Given the description of an element on the screen output the (x, y) to click on. 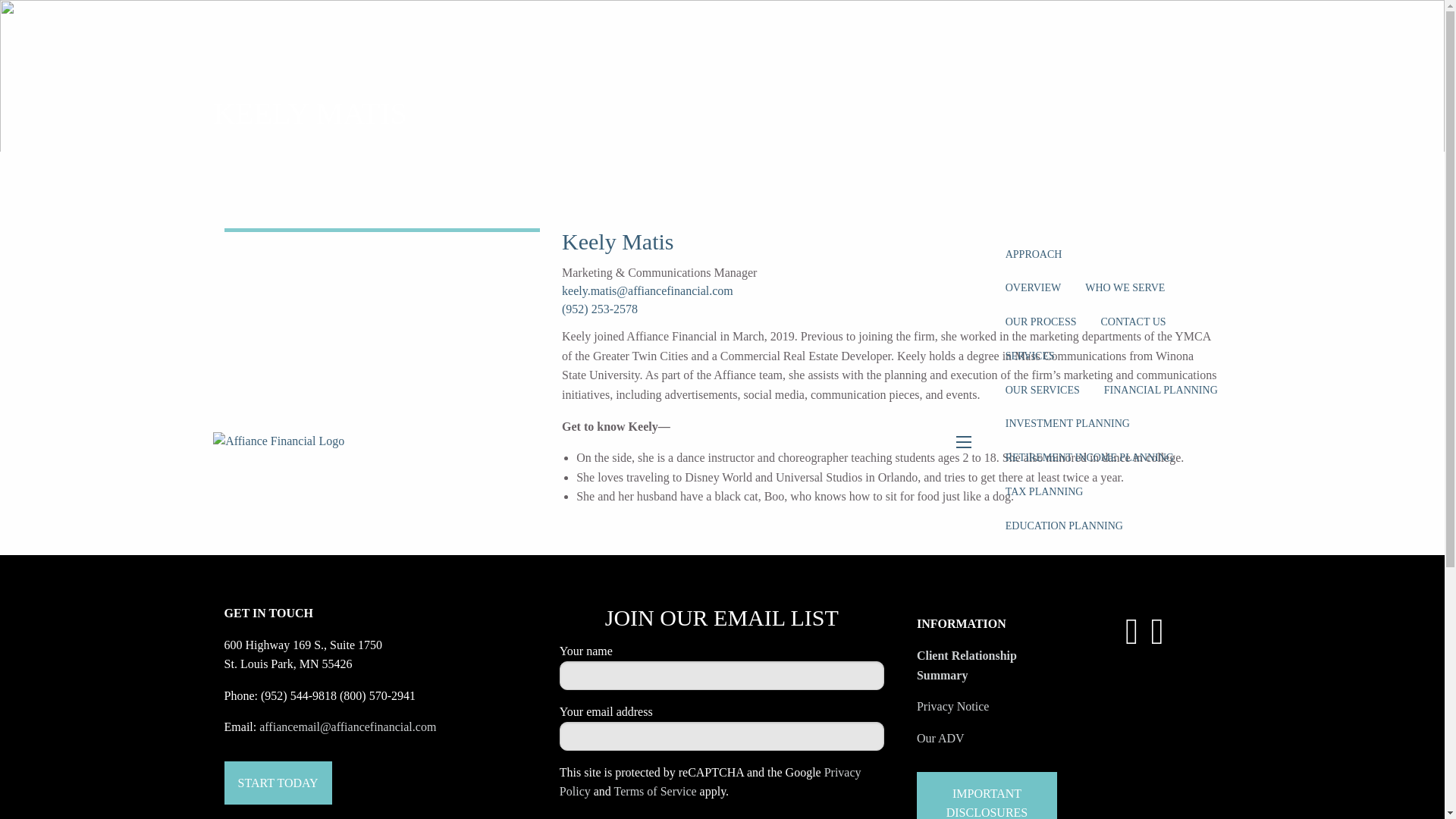
FINANCIAL PLANNING (1161, 390)
EDUCATION PLANNING (1063, 525)
CLIENT CENTER (1111, 695)
CLIENT PORTAL (1125, 729)
AFFIANCE FINANCIAL (1060, 118)
RETIREMENT INCOME PLANNING (1089, 458)
RISK MANAGEMENT PLANNING (1084, 559)
EVENTS (1195, 50)
PARTNERS (1167, 118)
HOME (1068, 17)
CONTACT US (1132, 322)
OVERVIEW (1033, 729)
WHO WE SERVE (1124, 288)
OVERVIEW (1033, 288)
SCHEDULE A MEETING (1062, 797)
